Given the description of an element on the screen output the (x, y) to click on. 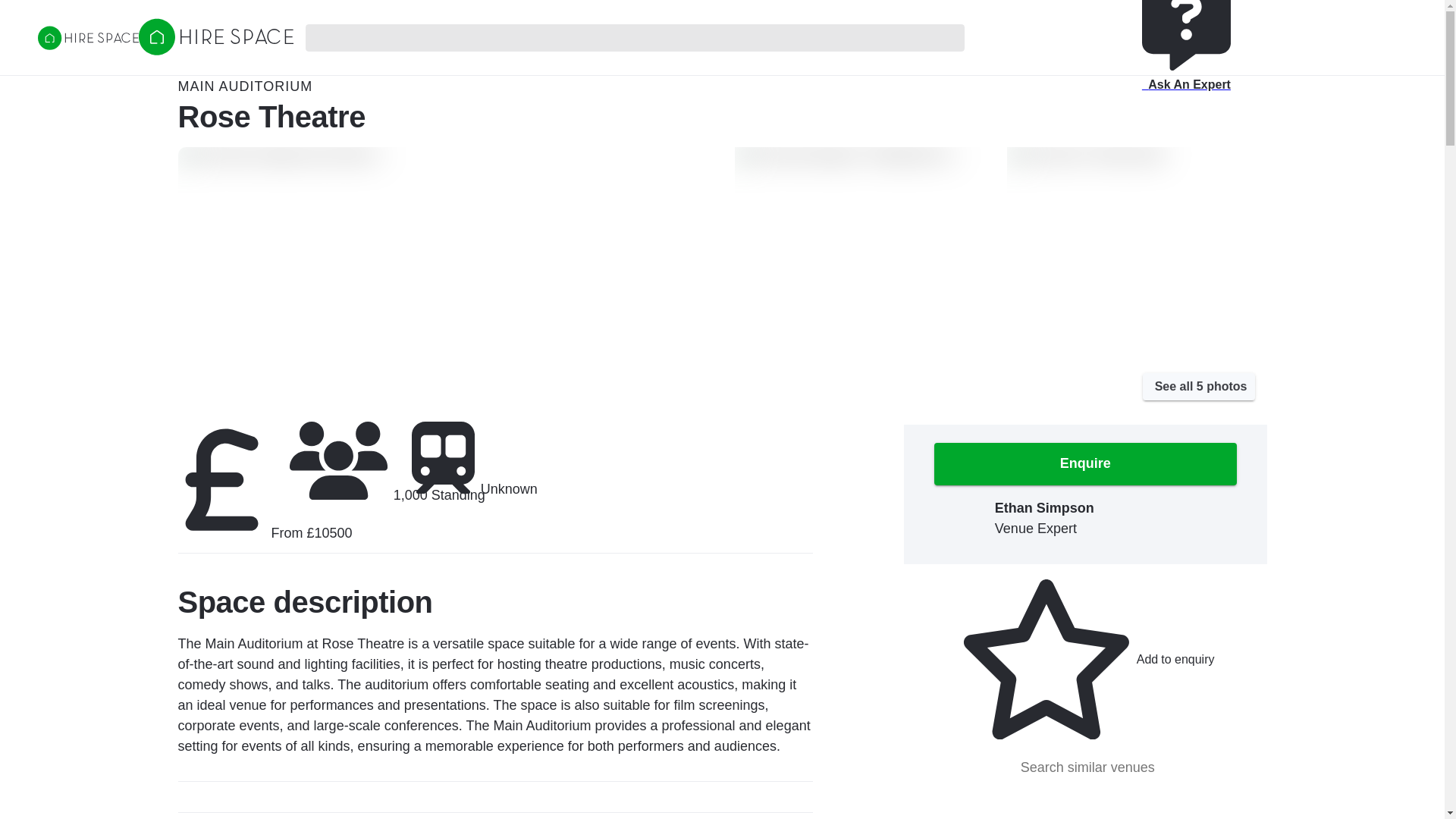
Hire Space (216, 36)
Hire Space (216, 50)
Search similar venues (1085, 659)
Venues (1085, 767)
See all 5 photos (1003, 6)
  Ask An Expert (1198, 386)
Enquire (1186, 53)
Hire Space (1085, 464)
My Hire Space (87, 39)
Solutions (1301, 6)
Hire Space (1088, 6)
